Given the description of an element on the screen output the (x, y) to click on. 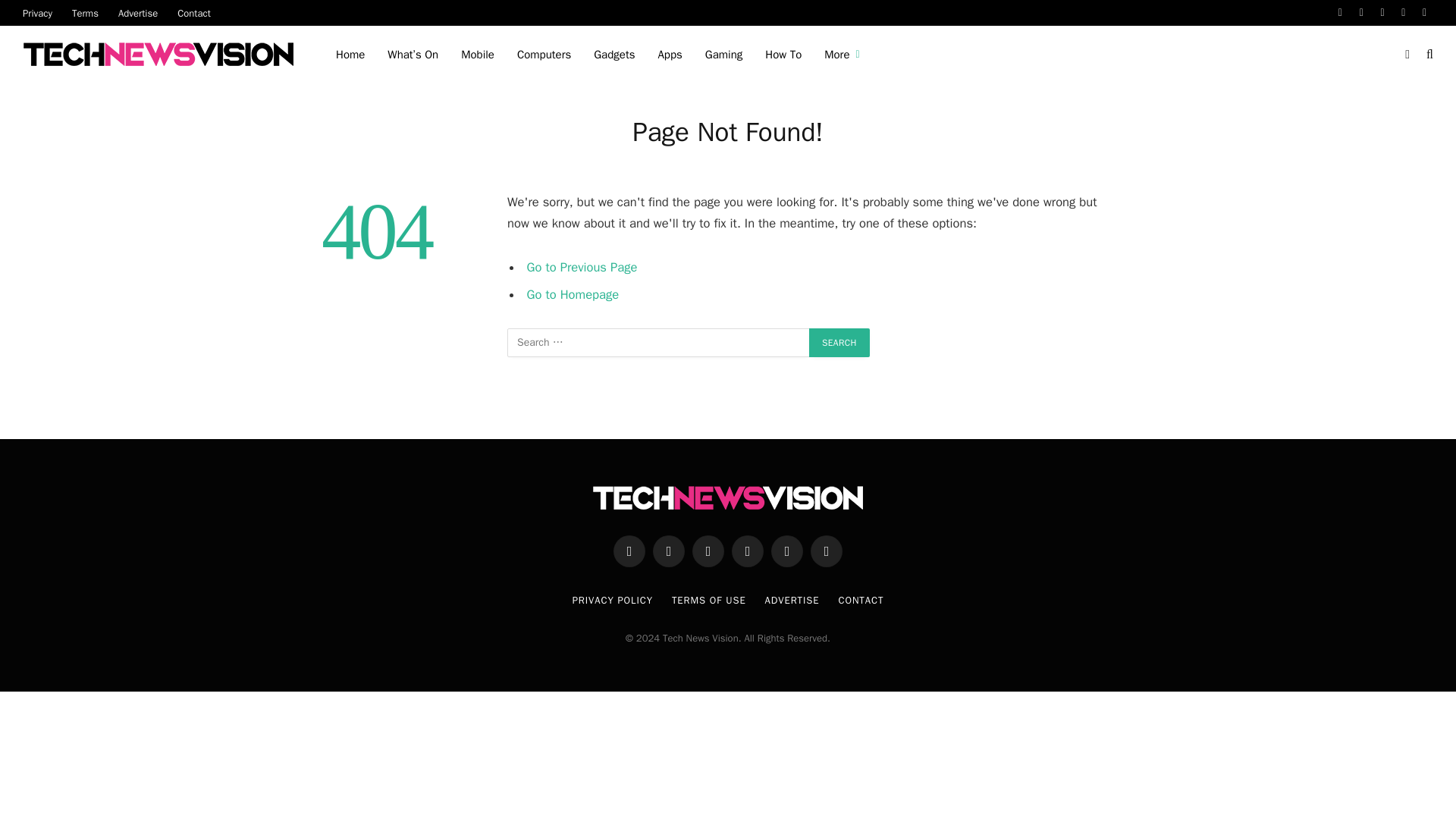
Privacy (37, 12)
Computers (543, 54)
Advertise (137, 12)
Switch to Dark Design - easier on eyes. (1406, 54)
Home (349, 54)
Search (839, 342)
Contact (194, 12)
Terms (84, 12)
Mobile (477, 54)
Tech News Vision (160, 54)
Gadgets (614, 54)
Search (839, 342)
